Given the description of an element on the screen output the (x, y) to click on. 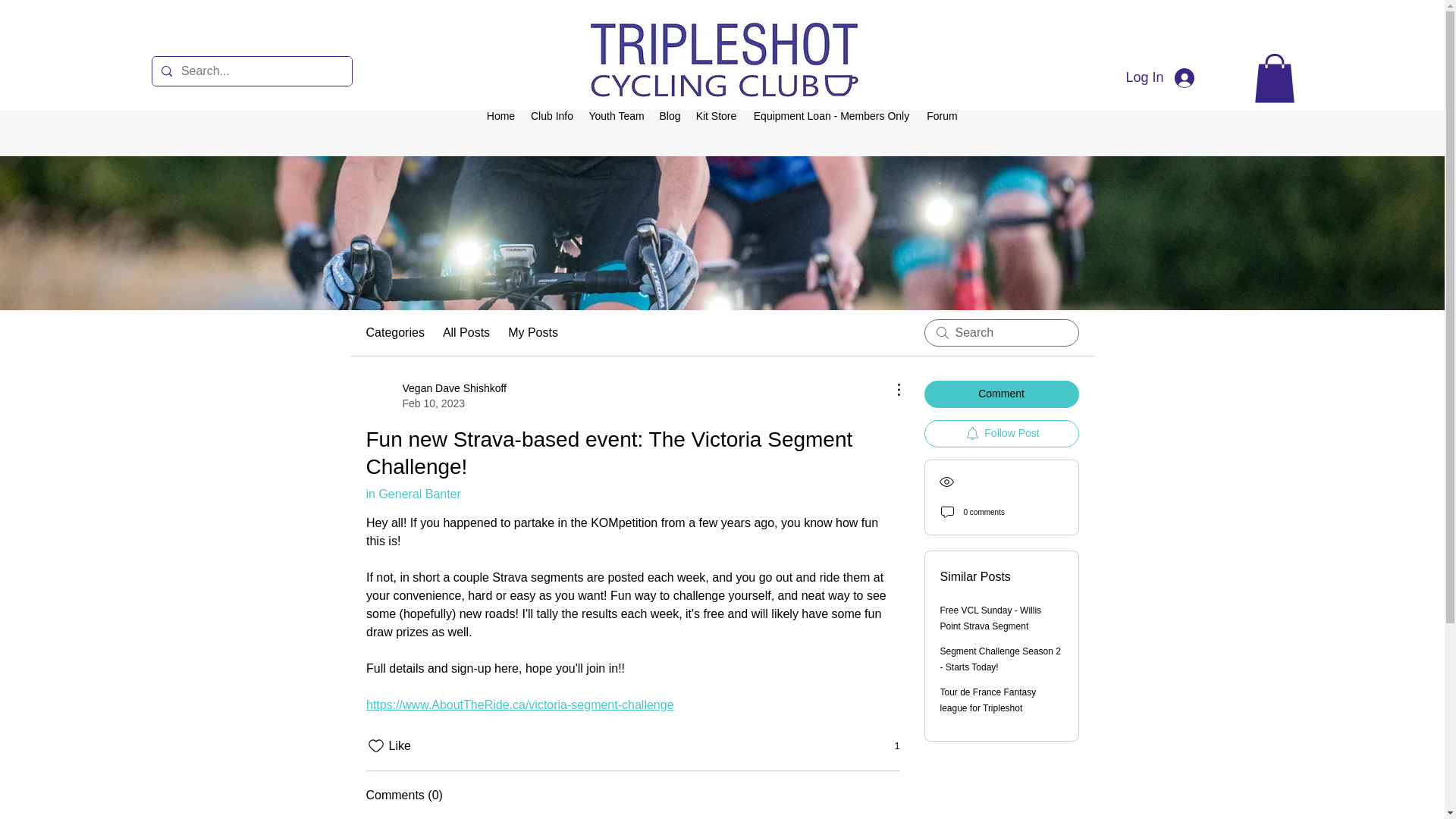
in General Banter (412, 493)
Forum (941, 115)
Youth Team (615, 115)
Blog (435, 395)
Kit Store (668, 115)
Follow Post (715, 115)
Home (1000, 433)
All Posts (500, 115)
Categories (465, 332)
